Given the description of an element on the screen output the (x, y) to click on. 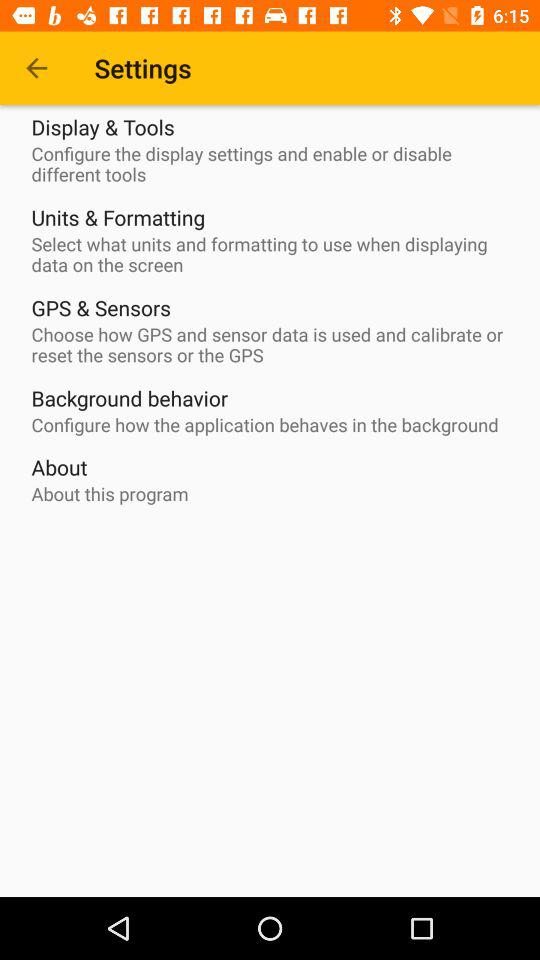
turn off item above display & tools item (36, 68)
